Given the description of an element on the screen output the (x, y) to click on. 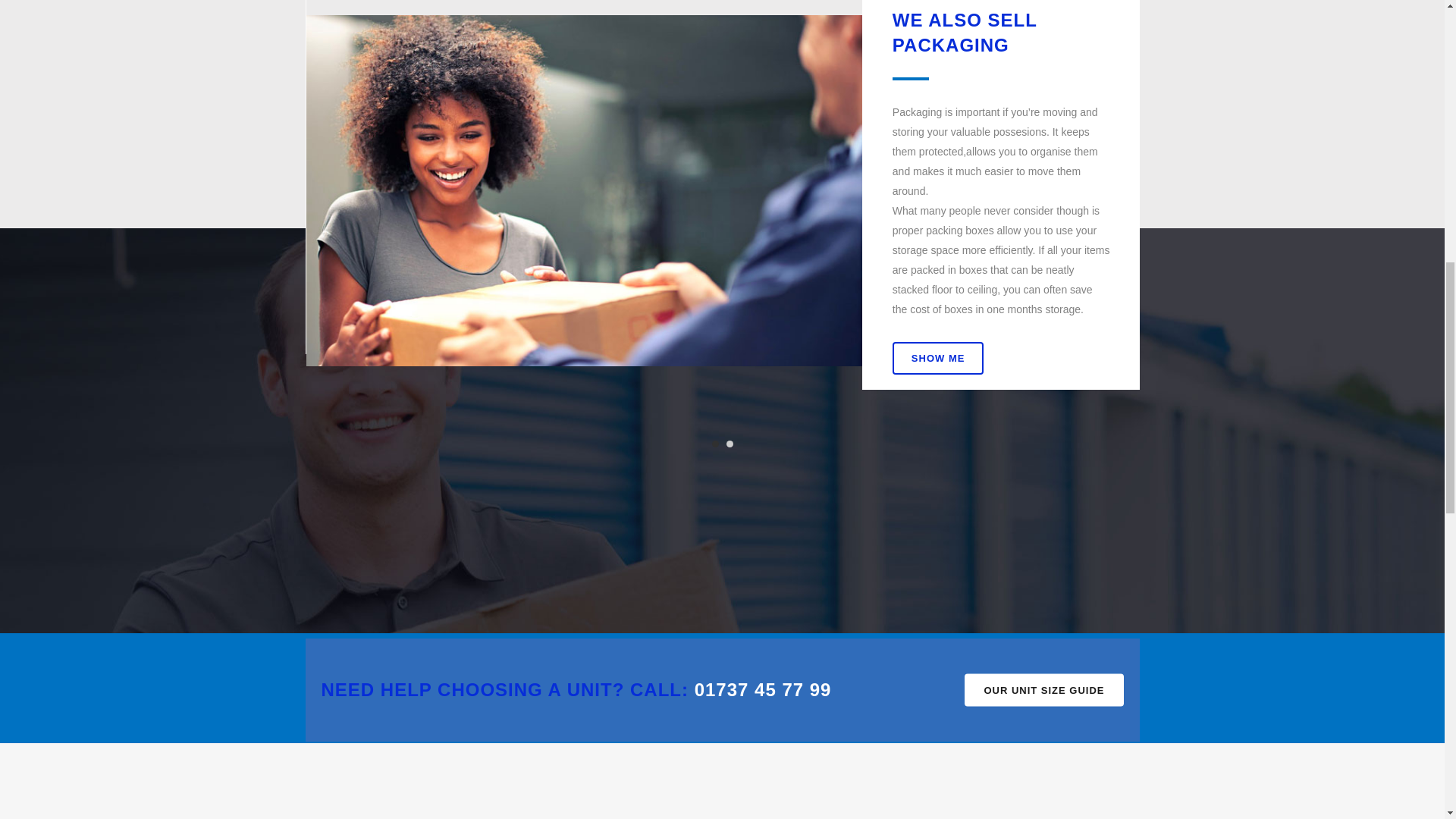
OUR UNIT SIZE GUIDE (1042, 690)
1 (714, 442)
2 (729, 442)
SHOW ME (938, 357)
